Given the description of an element on the screen output the (x, y) to click on. 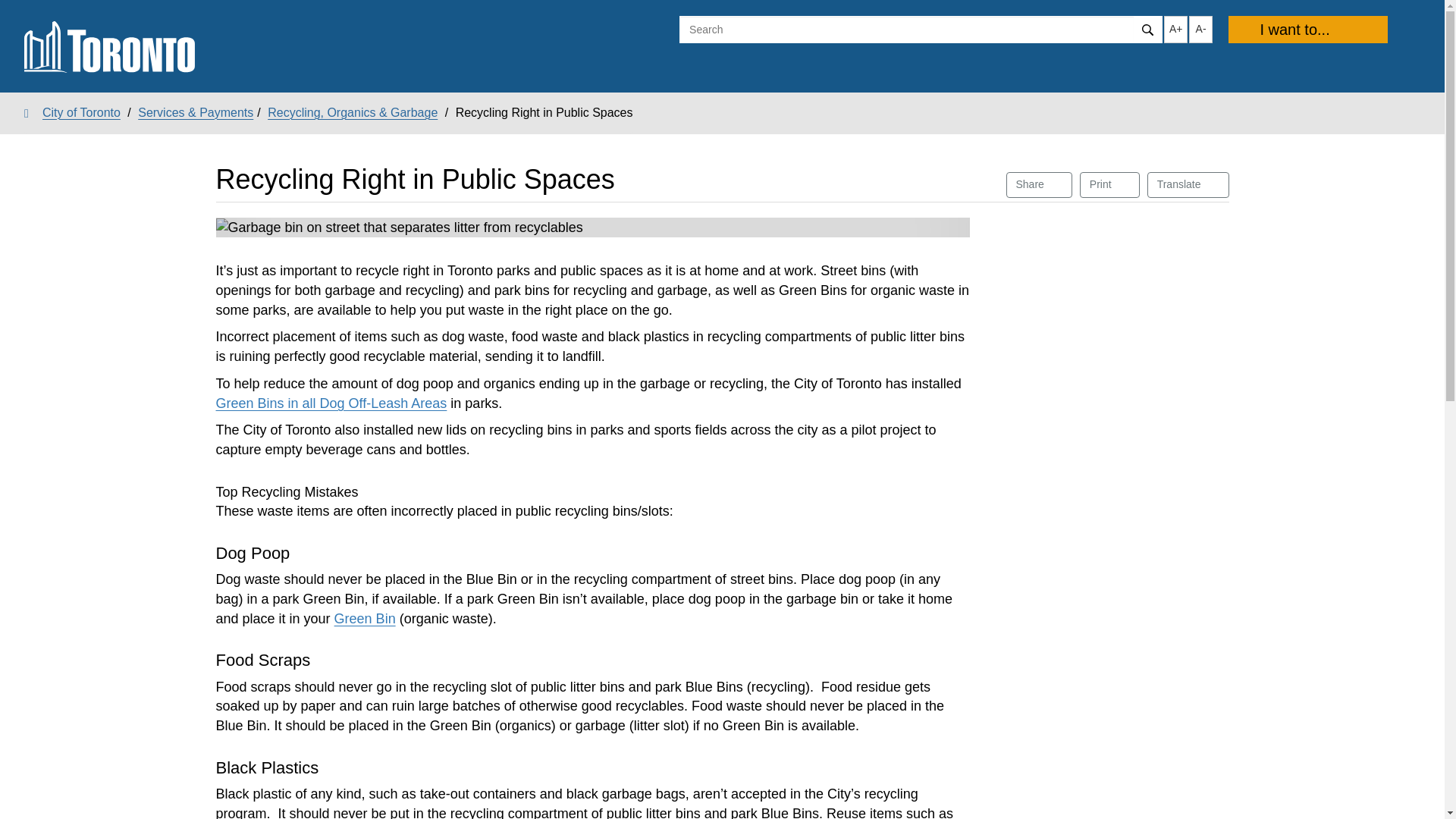
Green Bins in all Dog Off-Leash Areas (330, 403)
City of Toronto (72, 112)
Green Bin (365, 618)
I want to... (1038, 184)
Print (1307, 29)
Increase text size (1110, 184)
Translate (1175, 29)
Skip to content (1187, 184)
